Given the description of an element on the screen output the (x, y) to click on. 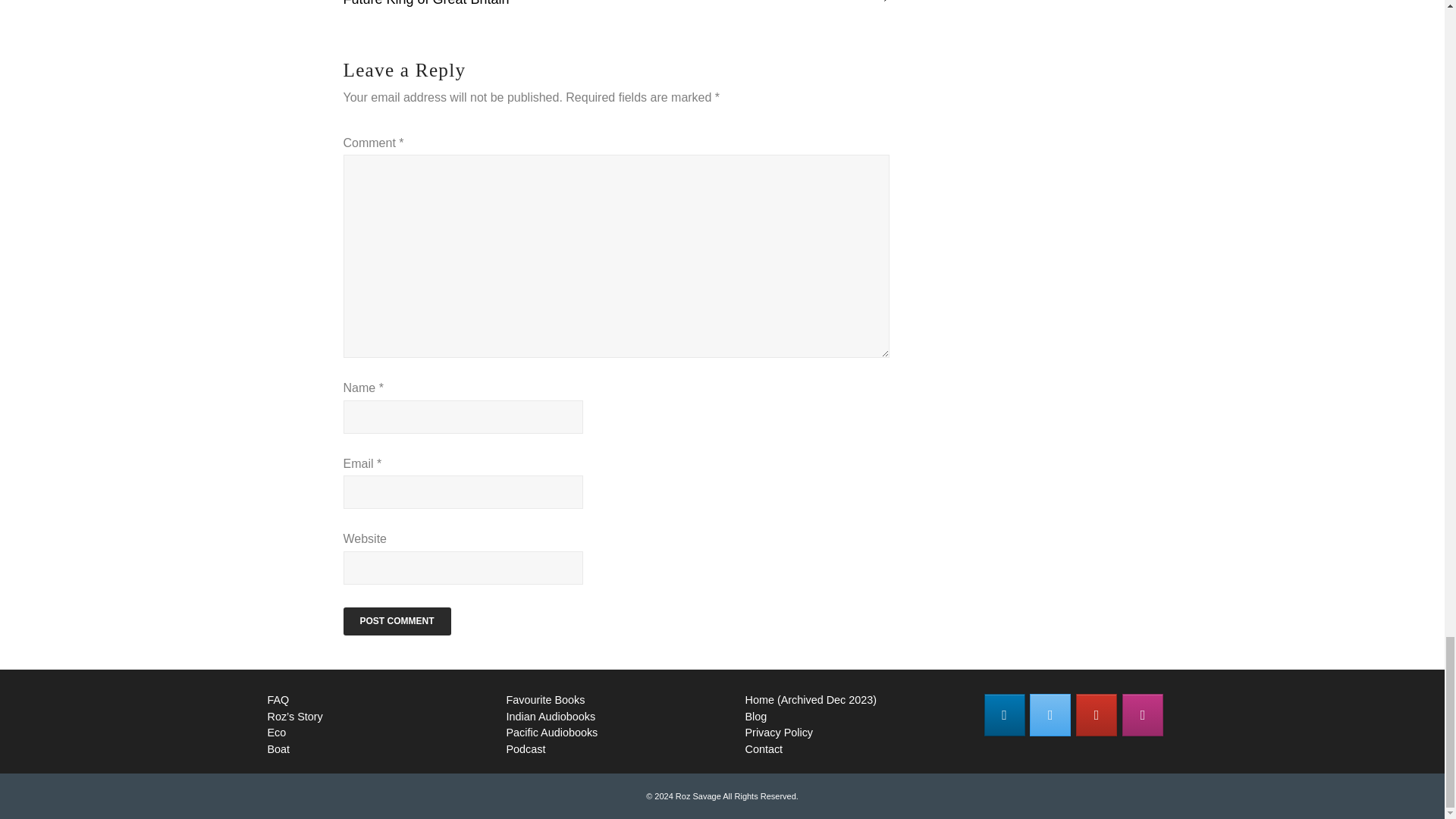
Roz Savage on Instagram (1142, 714)
Roz Savage on Youtube (1095, 714)
Post Comment (395, 621)
Roz Savage on X Twitter (1049, 714)
Roz Savage on Linkedin (1004, 714)
